Given the description of an element on the screen output the (x, y) to click on. 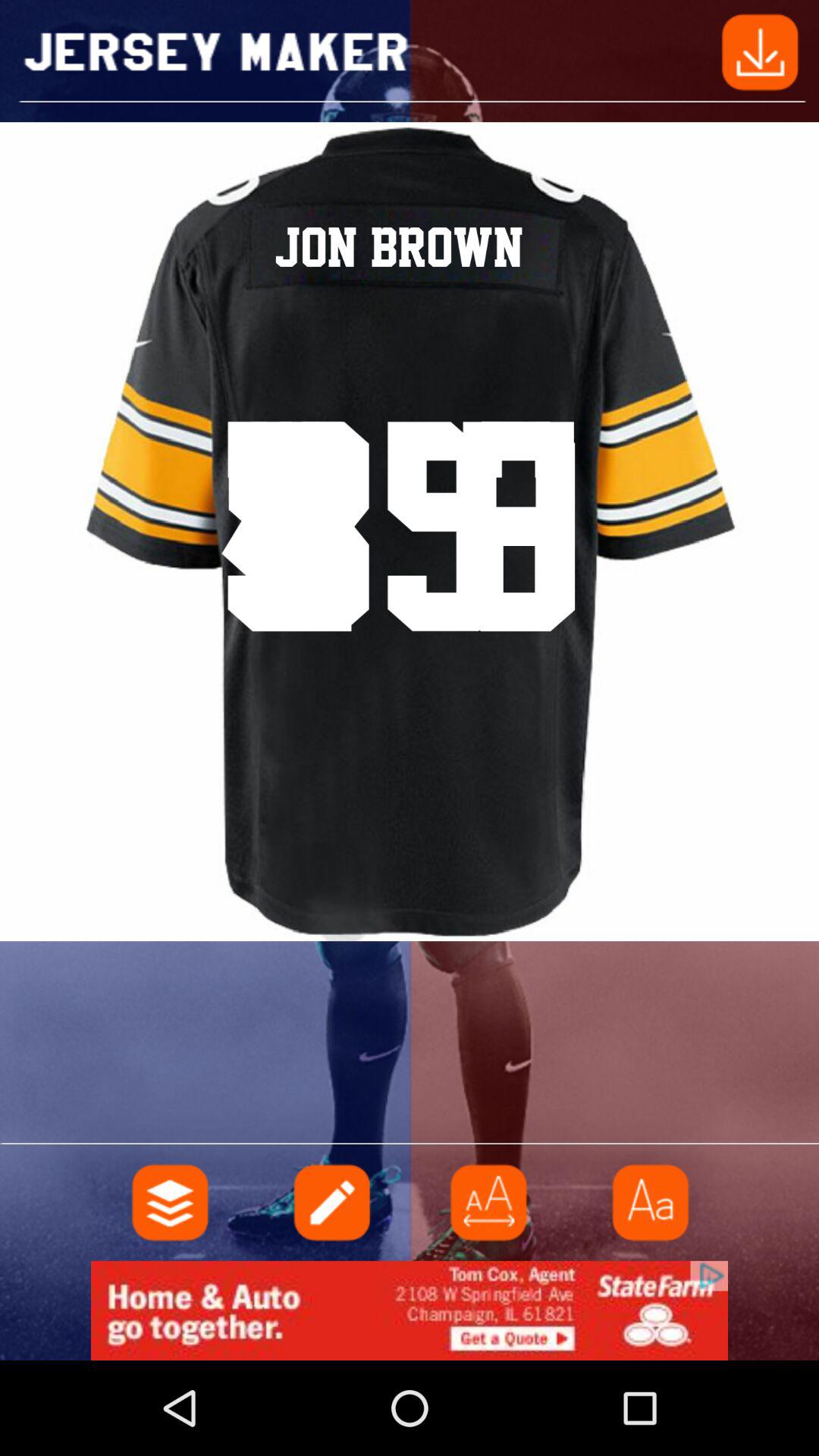
open advertisement (409, 1310)
